Given the description of an element on the screen output the (x, y) to click on. 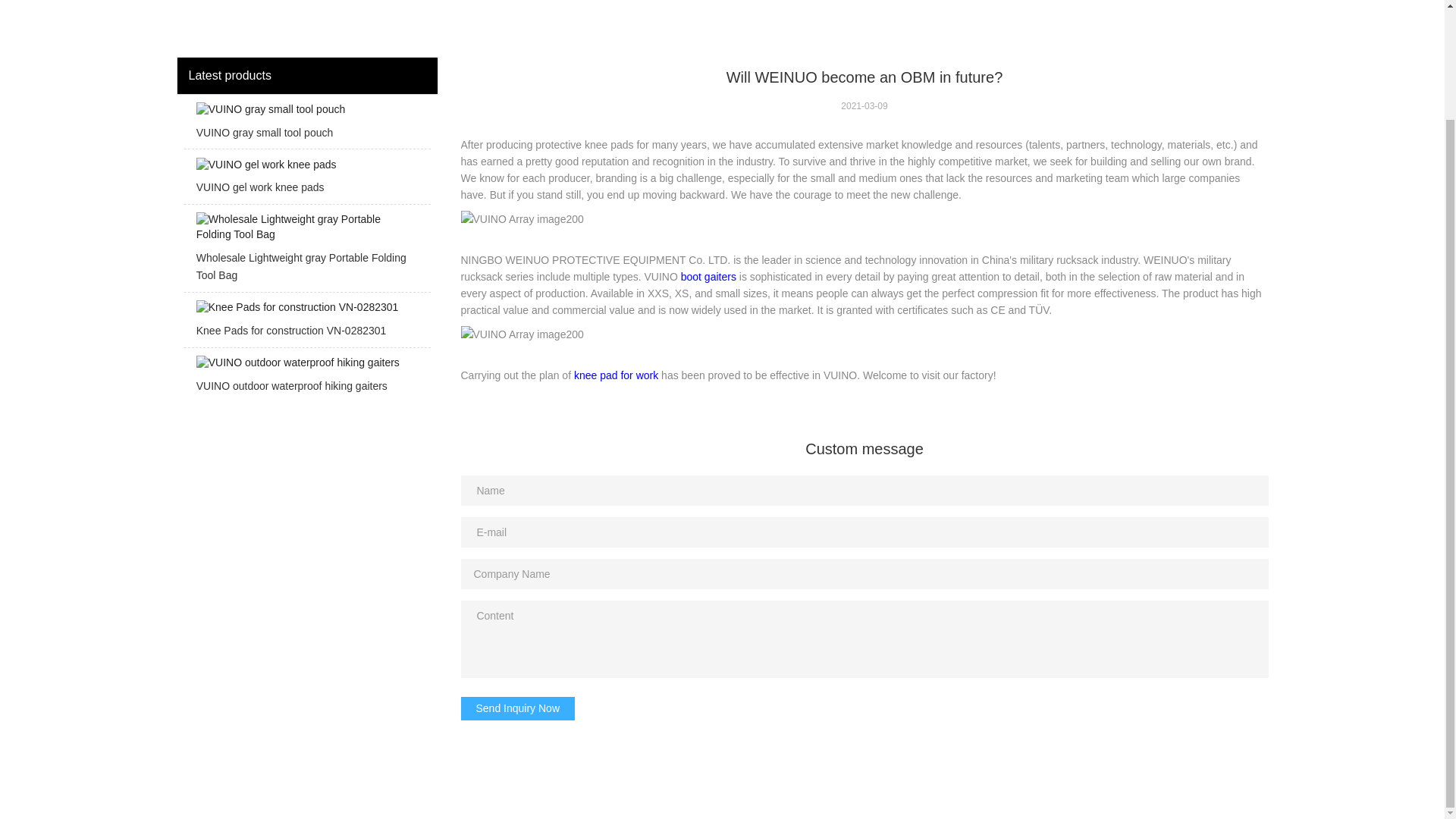
VUINO gel work knee pads (306, 180)
Knee Pads for construction VN-0282301 (306, 323)
boot gaiters (708, 276)
knee pad for work (615, 375)
VUINO outdoor waterproof hiking gaiters (306, 378)
VUINO gray small tool pouch (306, 125)
Wholesale Lightweight gray Portable Folding Tool Bag (306, 251)
Send Inquiry Now (518, 708)
